Given the description of an element on the screen output the (x, y) to click on. 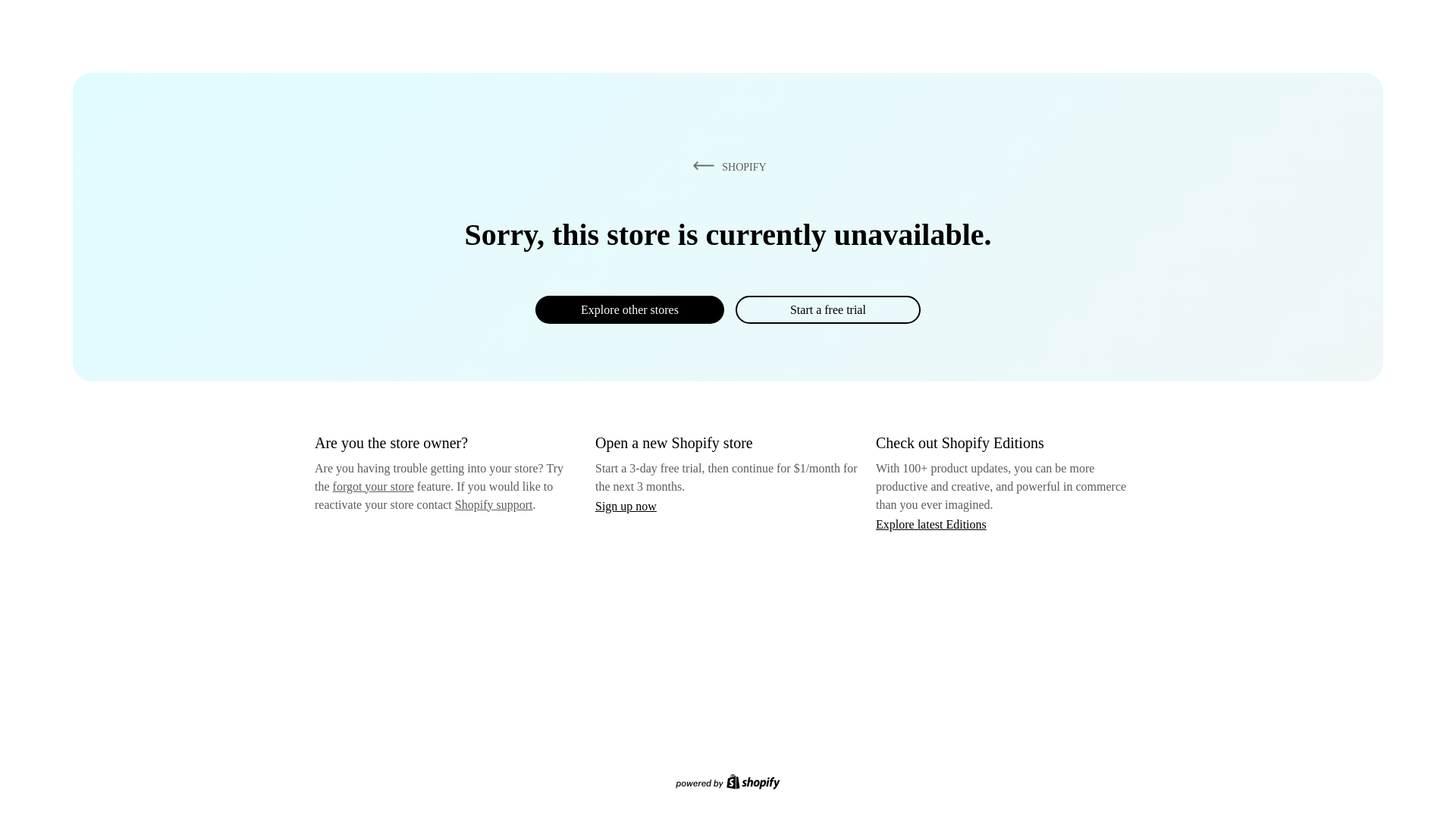
SHOPIFY (726, 166)
Explore latest Editions (931, 523)
Start a free trial (827, 309)
forgot your store (373, 486)
Explore other stores (629, 309)
Sign up now (625, 505)
Shopify support (493, 504)
